Given the description of an element on the screen output the (x, y) to click on. 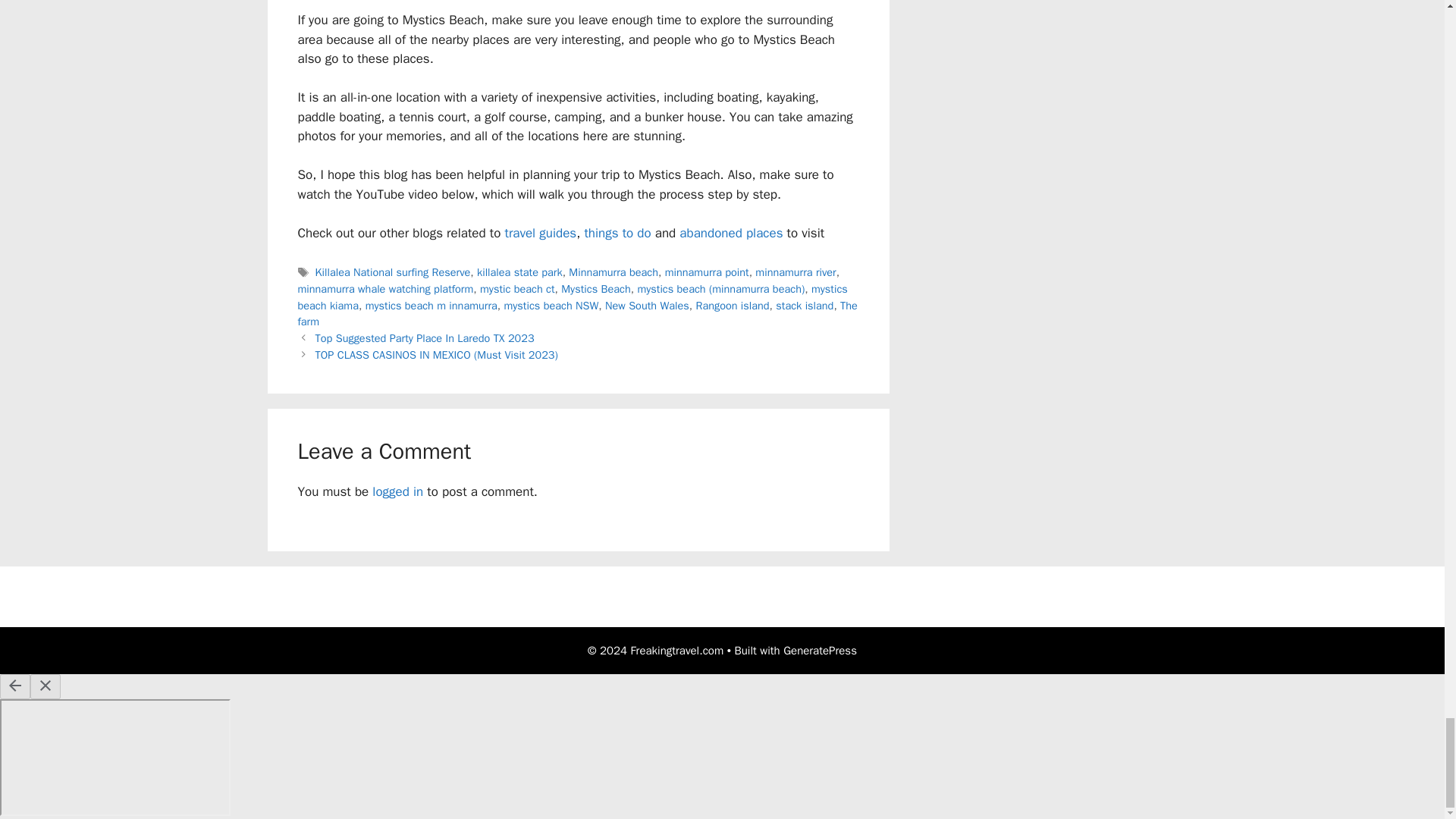
Killalea National surfing Reserve (392, 272)
minnamurra point (707, 272)
things to do (616, 232)
mystics beach kiama (572, 296)
Top Suggested Party Place In Laredo TX 2023 (424, 337)
mystics beach NSW (550, 305)
mystic beach ct (517, 288)
stack island (804, 305)
Mystics Beach (595, 288)
minnamurra whale watching platform (385, 288)
